Given the description of an element on the screen output the (x, y) to click on. 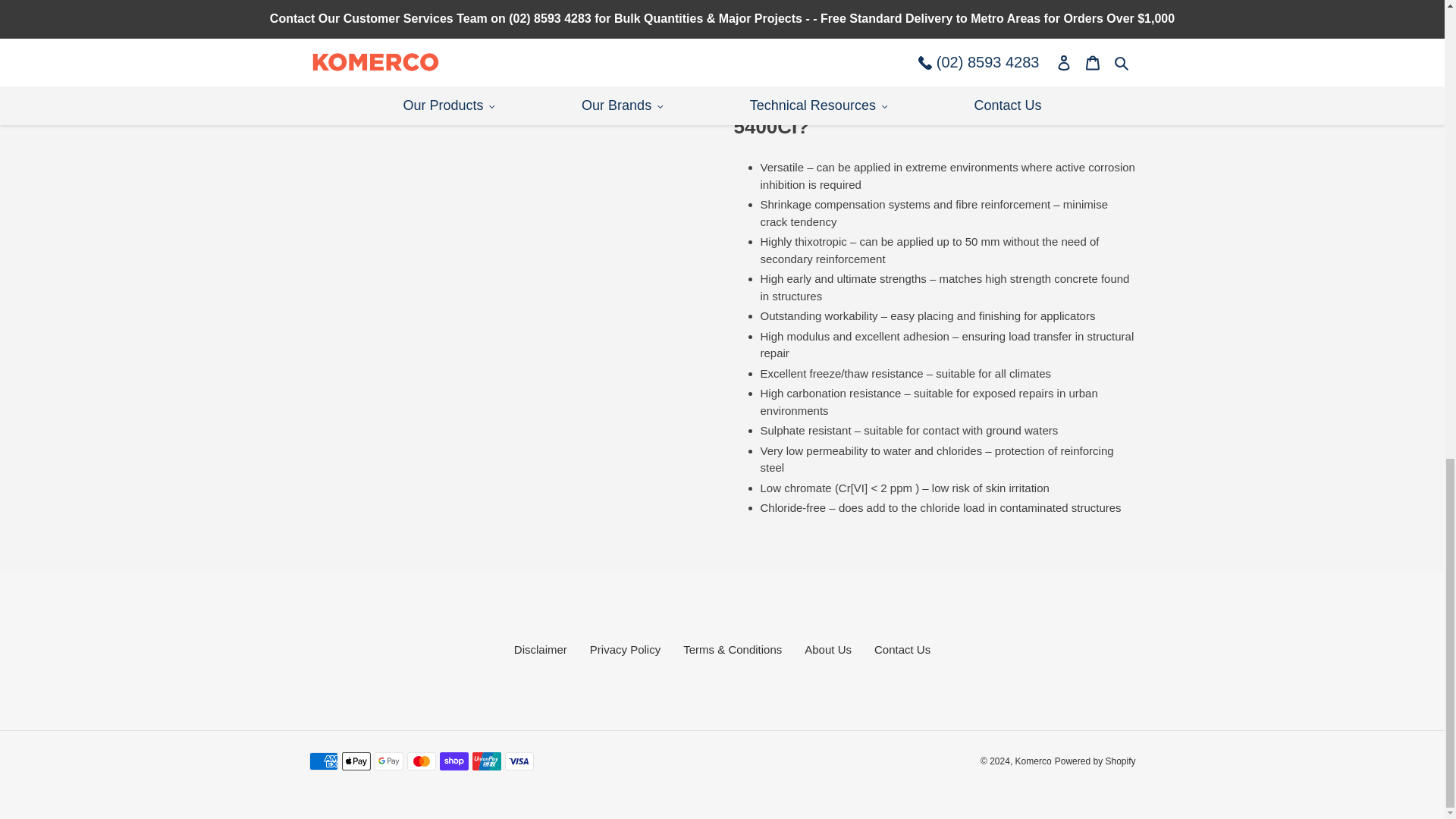
Mastercard (420, 761)
Visa (519, 761)
Google Pay (388, 761)
Union Pay (485, 761)
American Express (322, 761)
Apple Pay (354, 761)
Shop Pay (453, 761)
